Given the description of an element on the screen output the (x, y) to click on. 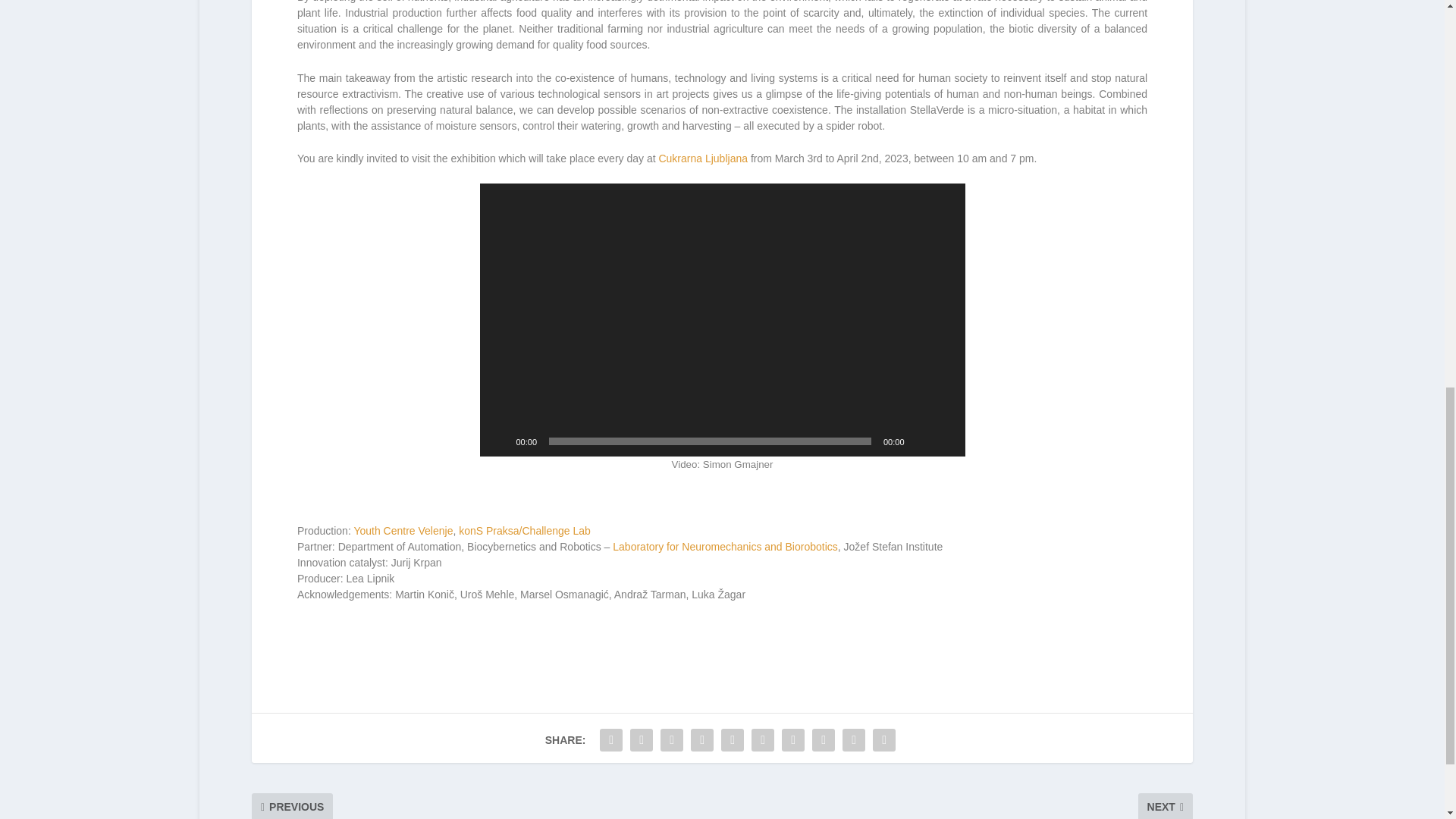
Share "Robot spider on Konsekvence exhibition" via LinkedIn (762, 739)
Play (499, 441)
Share "Robot spider on Konsekvence exhibition" via Twitter (641, 739)
Share "Robot spider on Konsekvence exhibition" via Buffer (792, 739)
Mute (920, 441)
Share "Robot spider on Konsekvence exhibition" via Facebook (610, 739)
Fullscreen (944, 441)
Cukrarna Ljubljana (703, 158)
Share "Robot spider on Konsekvence exhibition" via Tumblr (702, 739)
Share "Robot spider on Konsekvence exhibition" via Pinterest (732, 739)
Share "Robot spider on Konsekvence exhibition" via Print (884, 739)
Share "Robot spider on Konsekvence exhibition" via Email (853, 739)
